Given the description of an element on the screen output the (x, y) to click on. 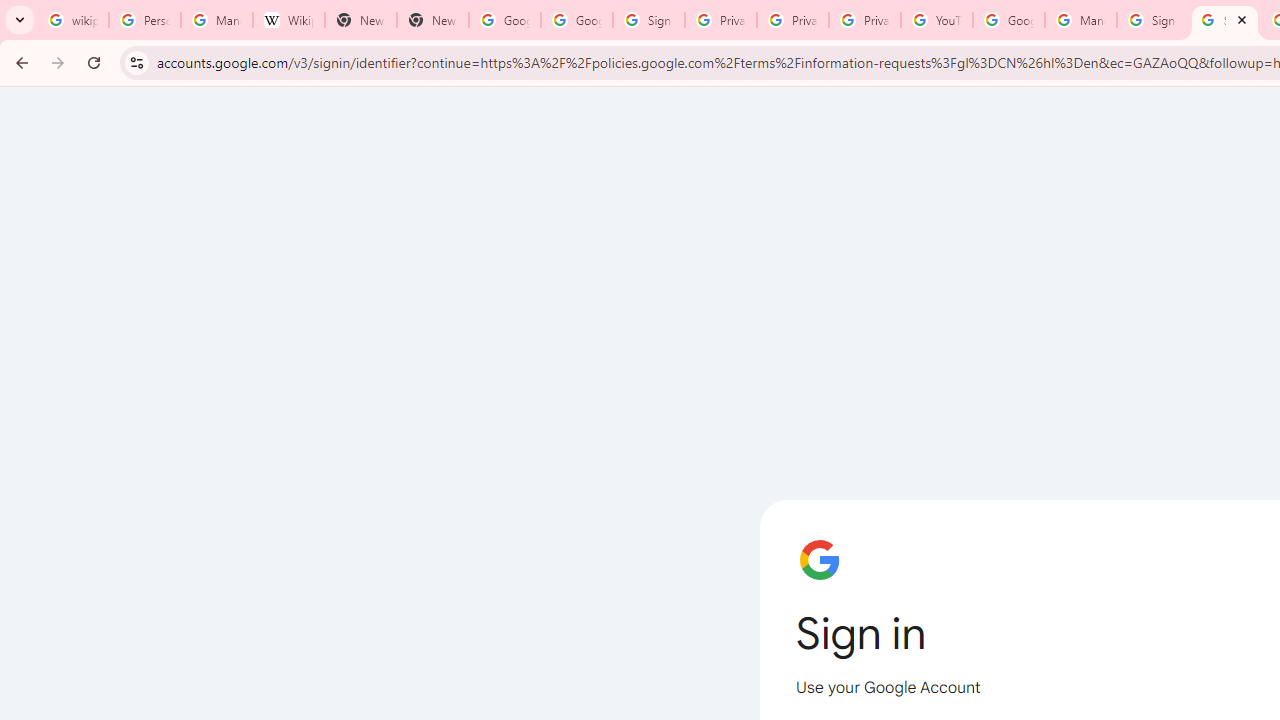
Sign in - Google Accounts (1153, 20)
Sign in - Google Accounts (1224, 20)
New Tab (432, 20)
